Given the description of an element on the screen output the (x, y) to click on. 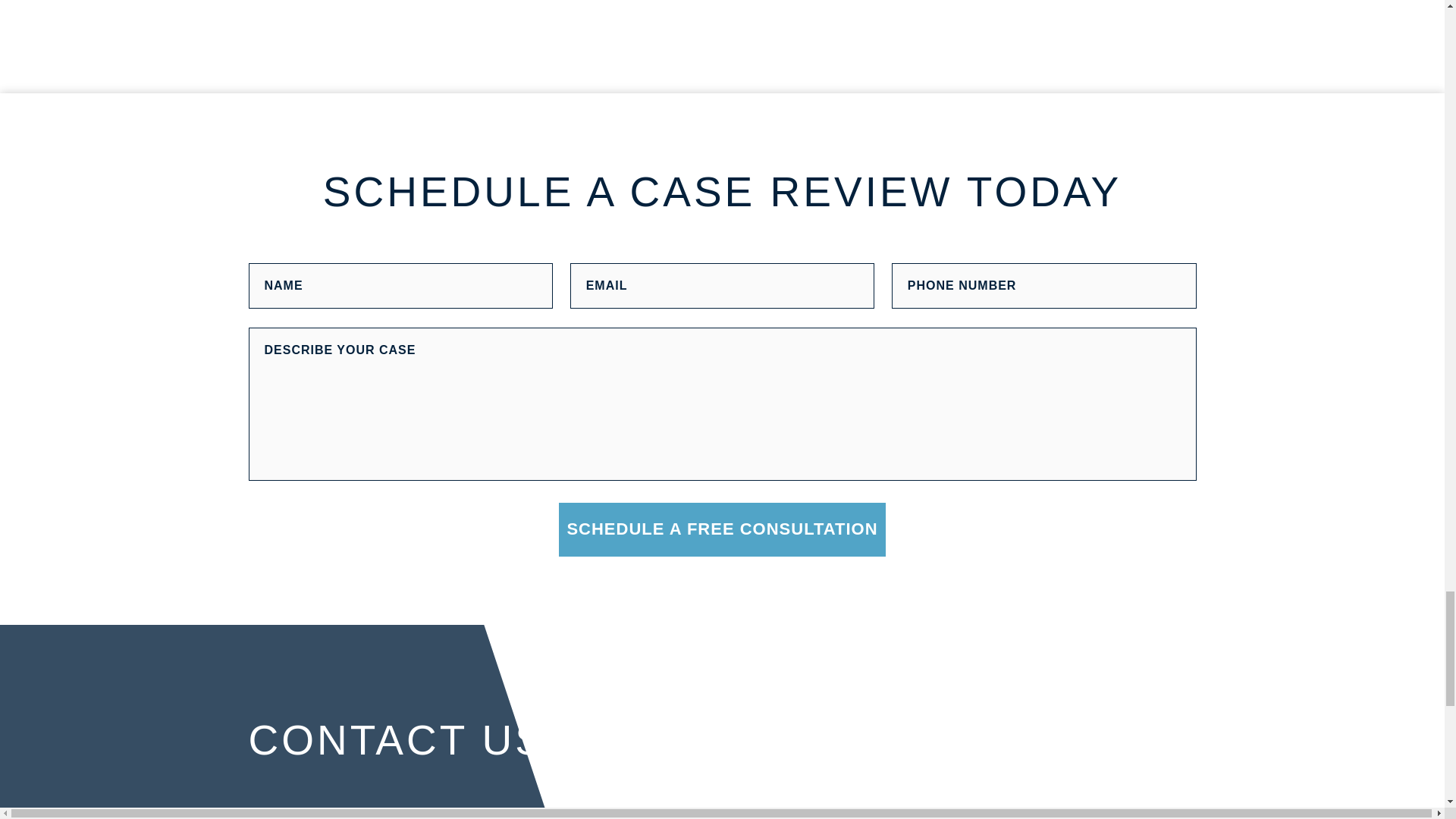
Schedule a Free Consultation (722, 529)
